Given the description of an element on the screen output the (x, y) to click on. 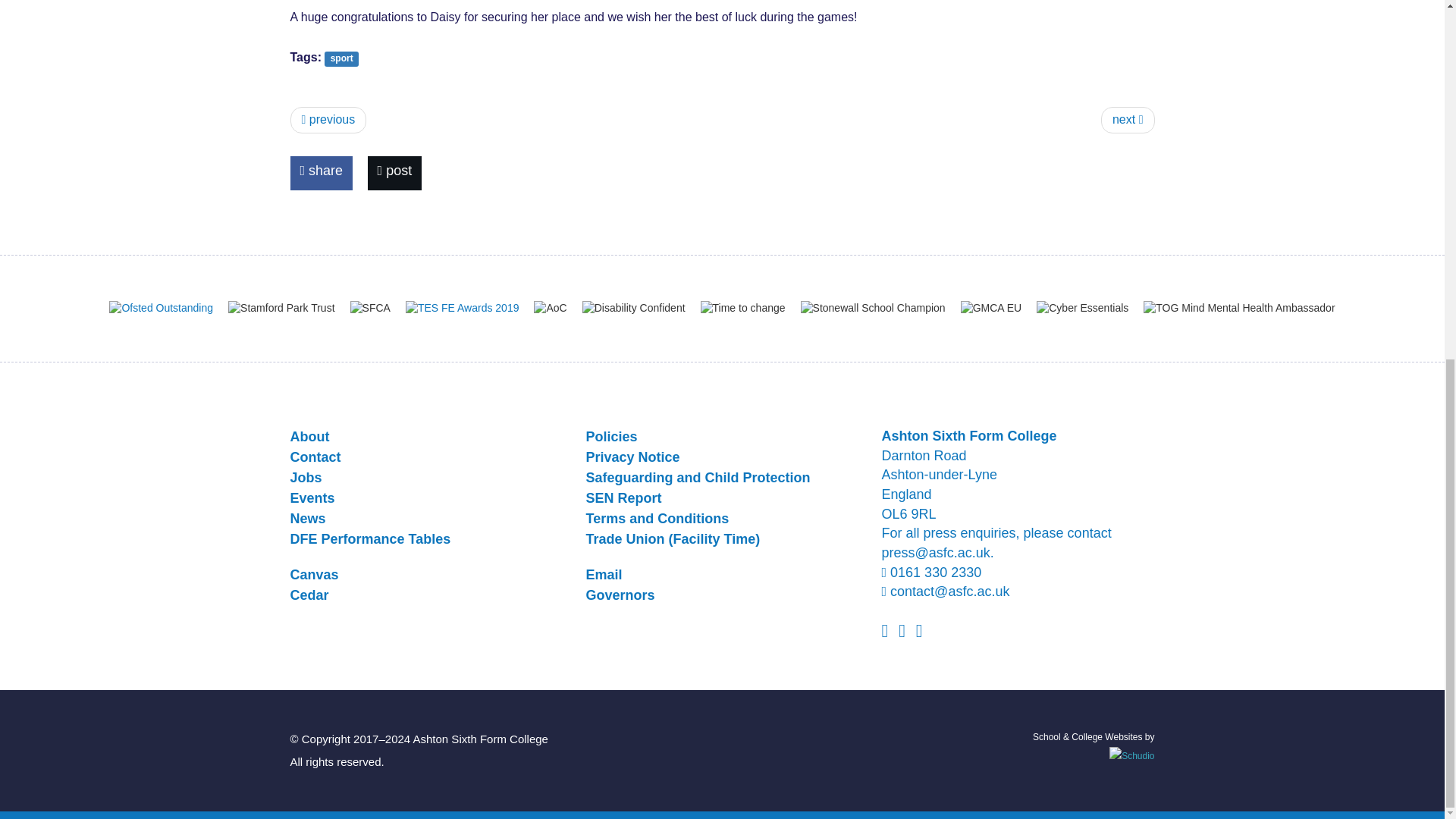
A2 Students compete in USA dance competition! (327, 120)
Share on Facebook (320, 173)
TES FE Awards 2019 (462, 307)
Ofsted Outstanding (161, 307)
A2 Dance students lead dance class for A1 students (1127, 120)
Post on X (395, 173)
